Given the description of an element on the screen output the (x, y) to click on. 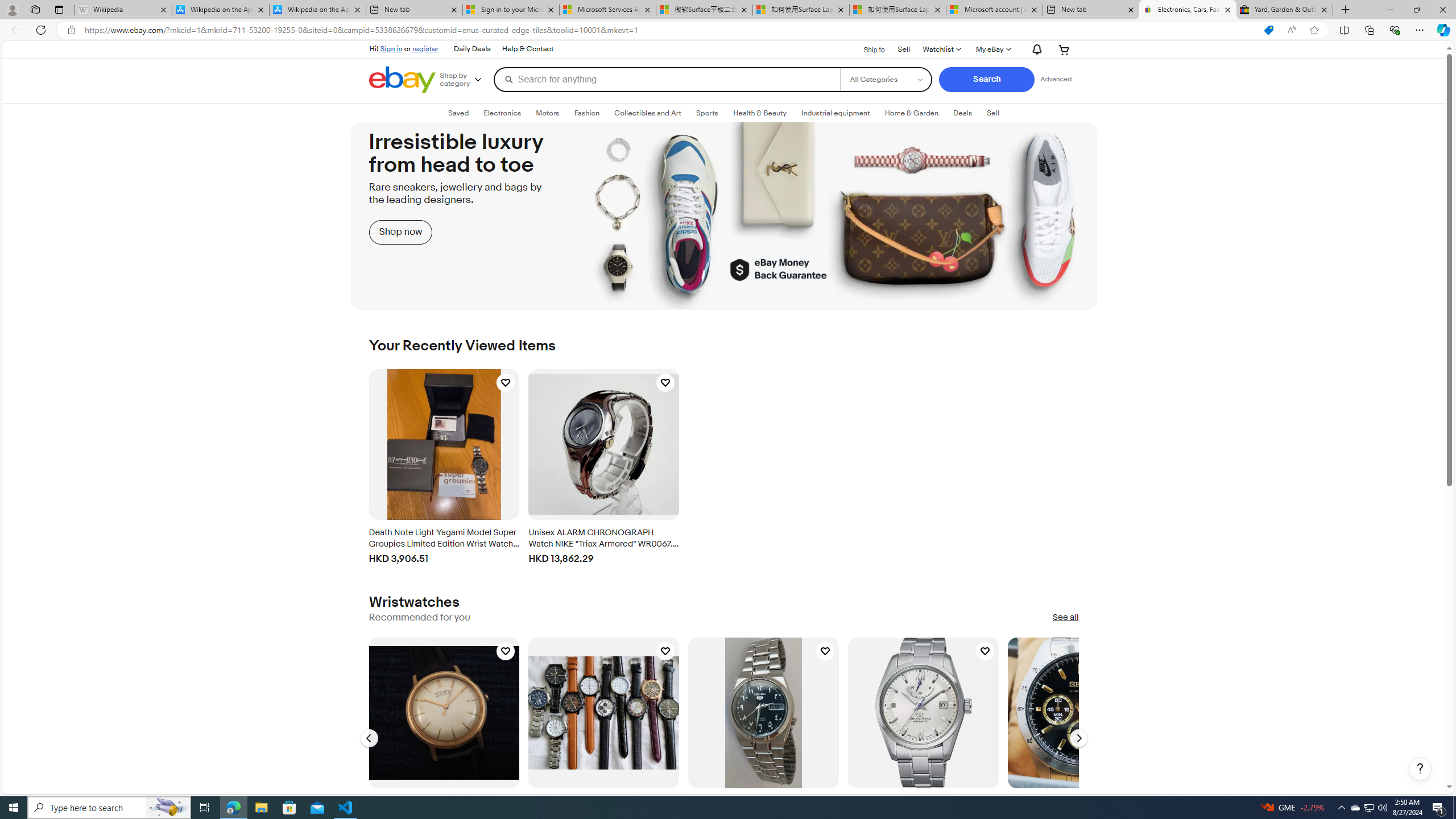
Advanced Search (1056, 78)
Sell (992, 112)
Wristwatches (414, 601)
Ship to (866, 49)
Health & Beauty (760, 112)
Sell (904, 48)
Collectibles and ArtExpand: Collectibles and Art (647, 112)
